Given the description of an element on the screen output the (x, y) to click on. 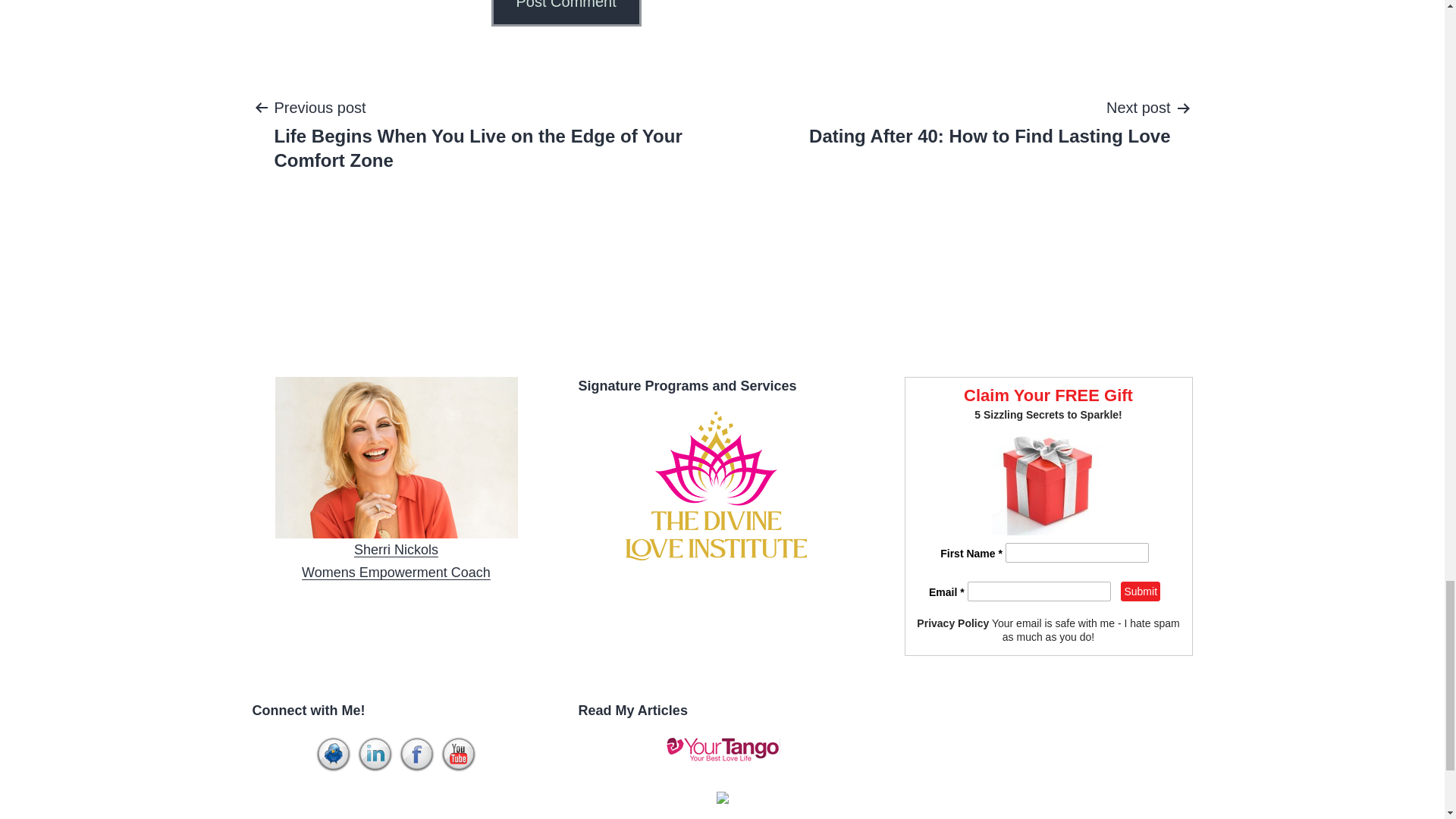
Post Comment (567, 13)
The Divine Love Institute (722, 490)
Submit (395, 561)
Submit (1140, 591)
Post Comment (1140, 591)
